Given the description of an element on the screen output the (x, y) to click on. 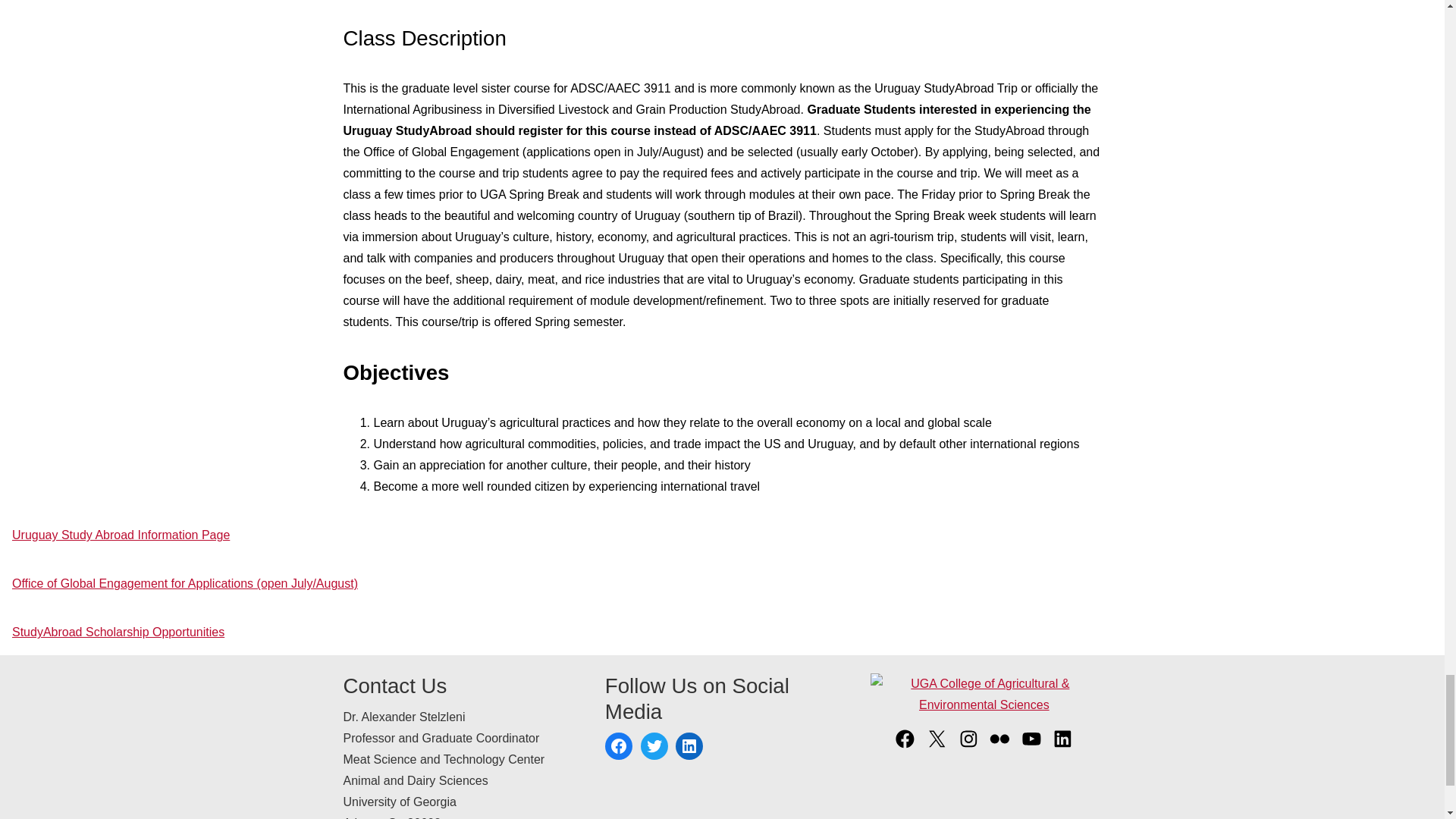
Twitter (654, 746)
X (936, 745)
Uruguay Study Abroad Information Page (120, 534)
Facebook (618, 746)
Instagram (968, 745)
YouTube (1031, 745)
Facebook (904, 745)
LinkedIn (689, 746)
Flickr (999, 745)
StudyAbroad Scholarship Opportunities (117, 631)
